Given the description of an element on the screen output the (x, y) to click on. 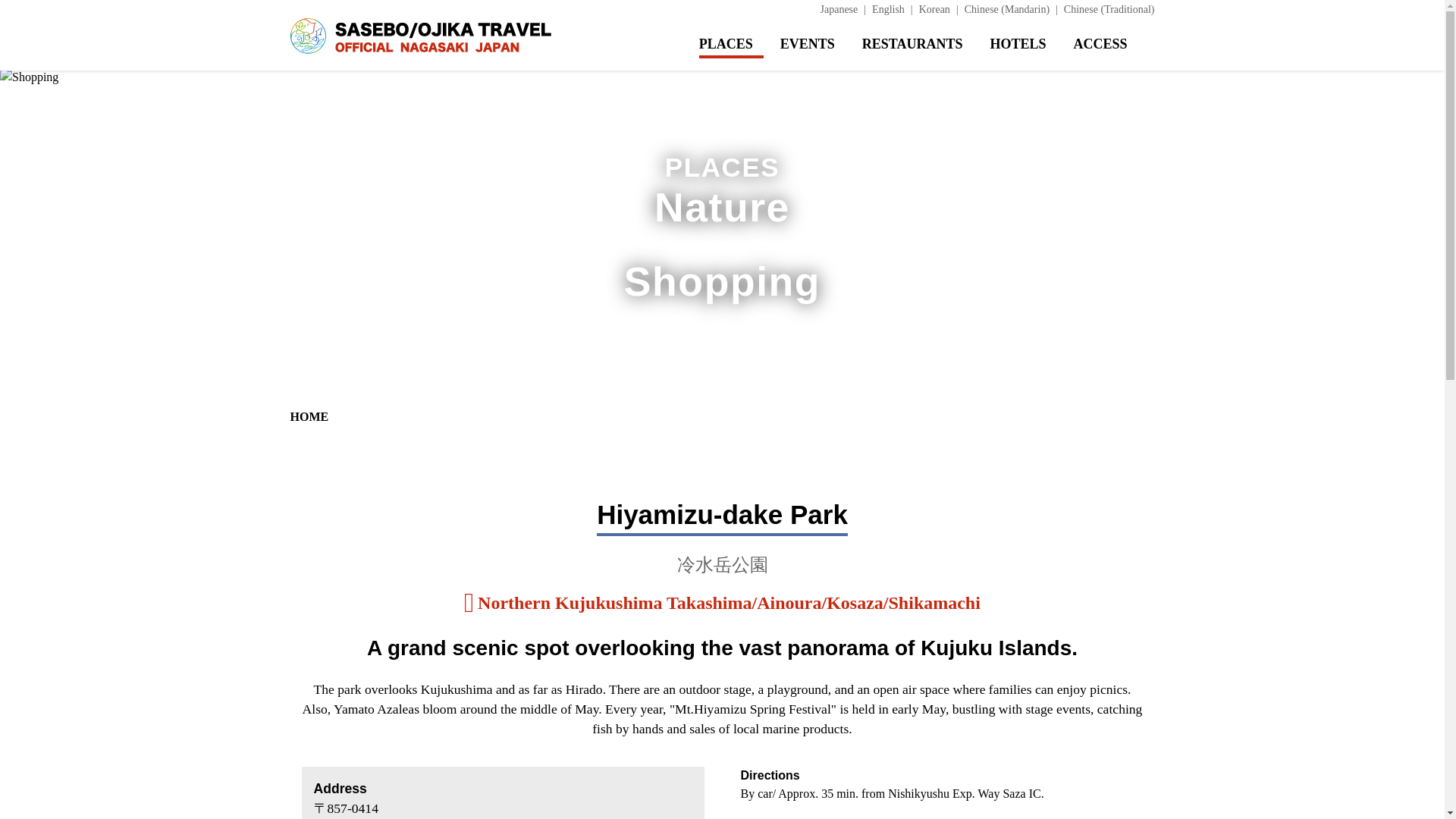
ACCESS (1113, 44)
HOME (309, 416)
Japanese (846, 9)
English (895, 9)
Korean (940, 9)
